Given the description of an element on the screen output the (x, y) to click on. 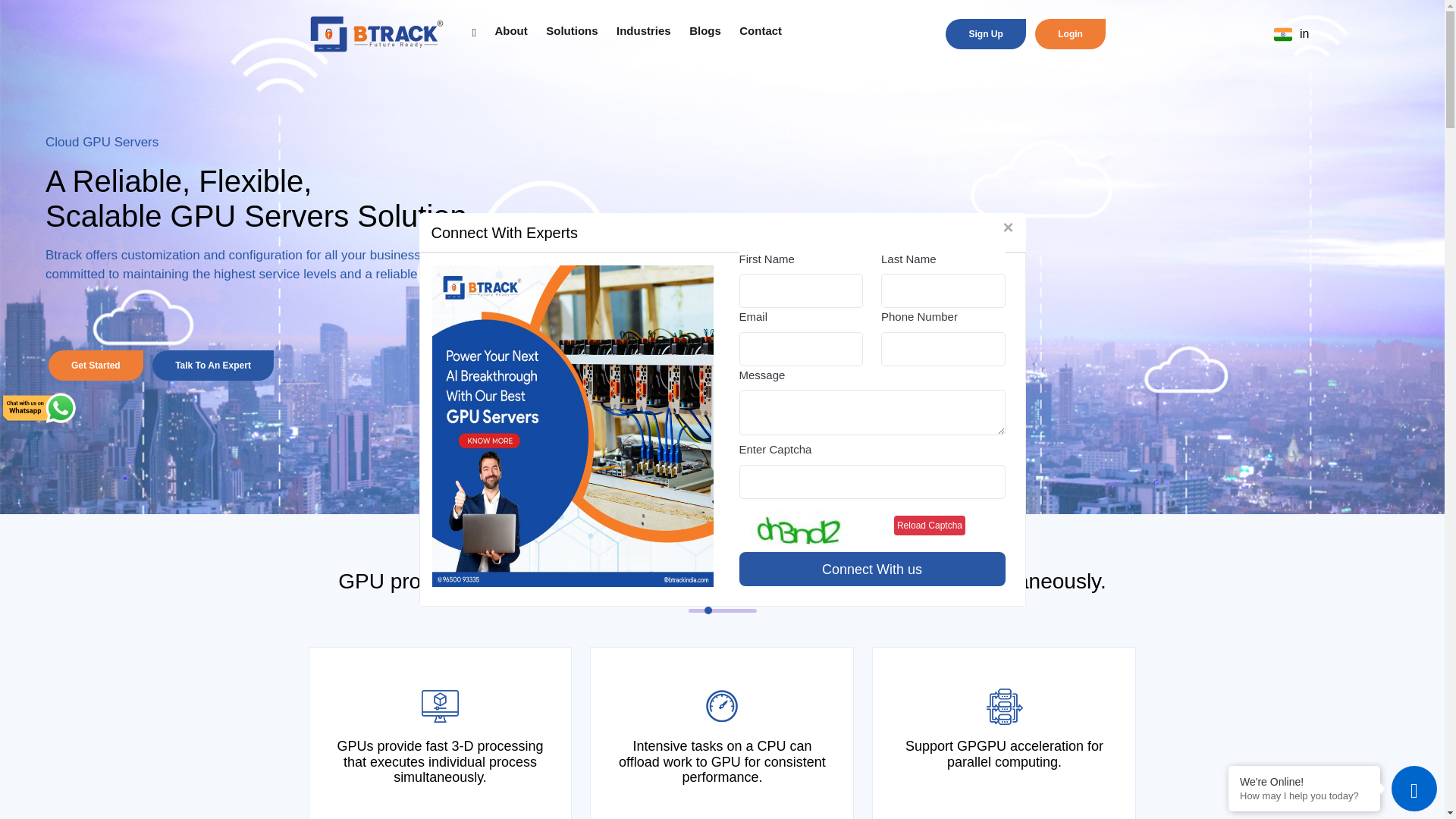
Industries (643, 31)
Submit (871, 569)
About (511, 31)
BtrackLogo (375, 34)
Sign Up (984, 33)
Blogs (704, 31)
Solutions (571, 31)
We're Online! (1304, 781)
Login (622, 31)
How may I help you today? (1070, 33)
Contact (1304, 795)
